Given the description of an element on the screen output the (x, y) to click on. 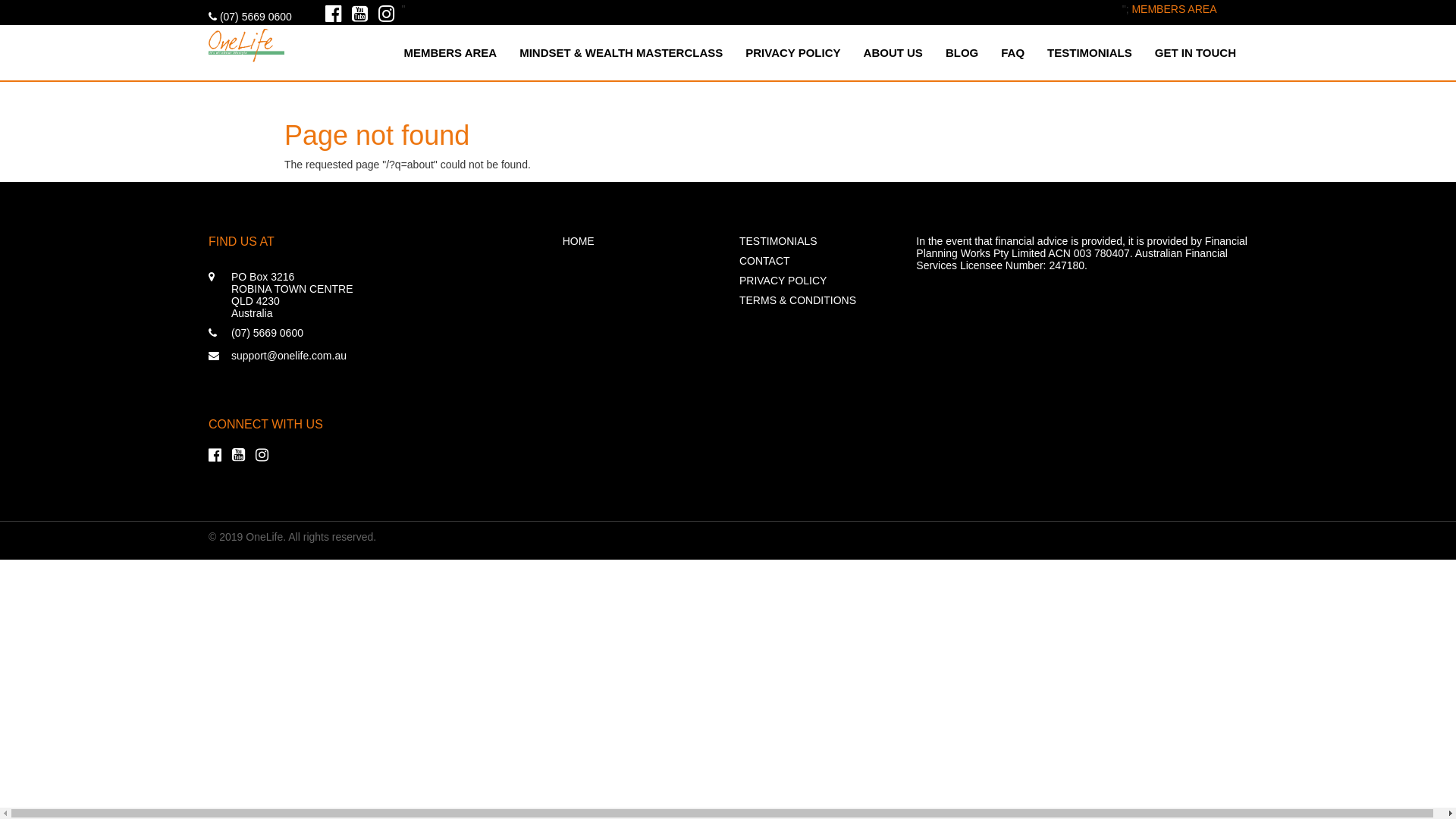
MEMBERS AREA Element type: text (450, 52)
MEMBERS AREA Element type: text (1173, 9)
TESTIMONIALS Element type: text (816, 241)
PRIVACY POLICY Element type: text (792, 52)
BLOG Element type: text (961, 52)
HOME Element type: text (639, 241)
TERMS & CONDITIONS Element type: text (816, 300)
GET IN TOUCH Element type: text (1195, 52)
ABOUT US Element type: text (893, 52)
CONTACT Element type: text (816, 260)
Skip to main content Element type: text (48, 0)
TESTIMONIALS Element type: text (1089, 52)
PRIVACY POLICY Element type: text (816, 280)
FAQ Element type: text (1012, 52)
(07) 5669 0600 Element type: text (249, 16)
Home Element type: hover (246, 42)
MINDSET & WEALTH MASTERCLASS Element type: text (621, 52)
